Given the description of an element on the screen output the (x, y) to click on. 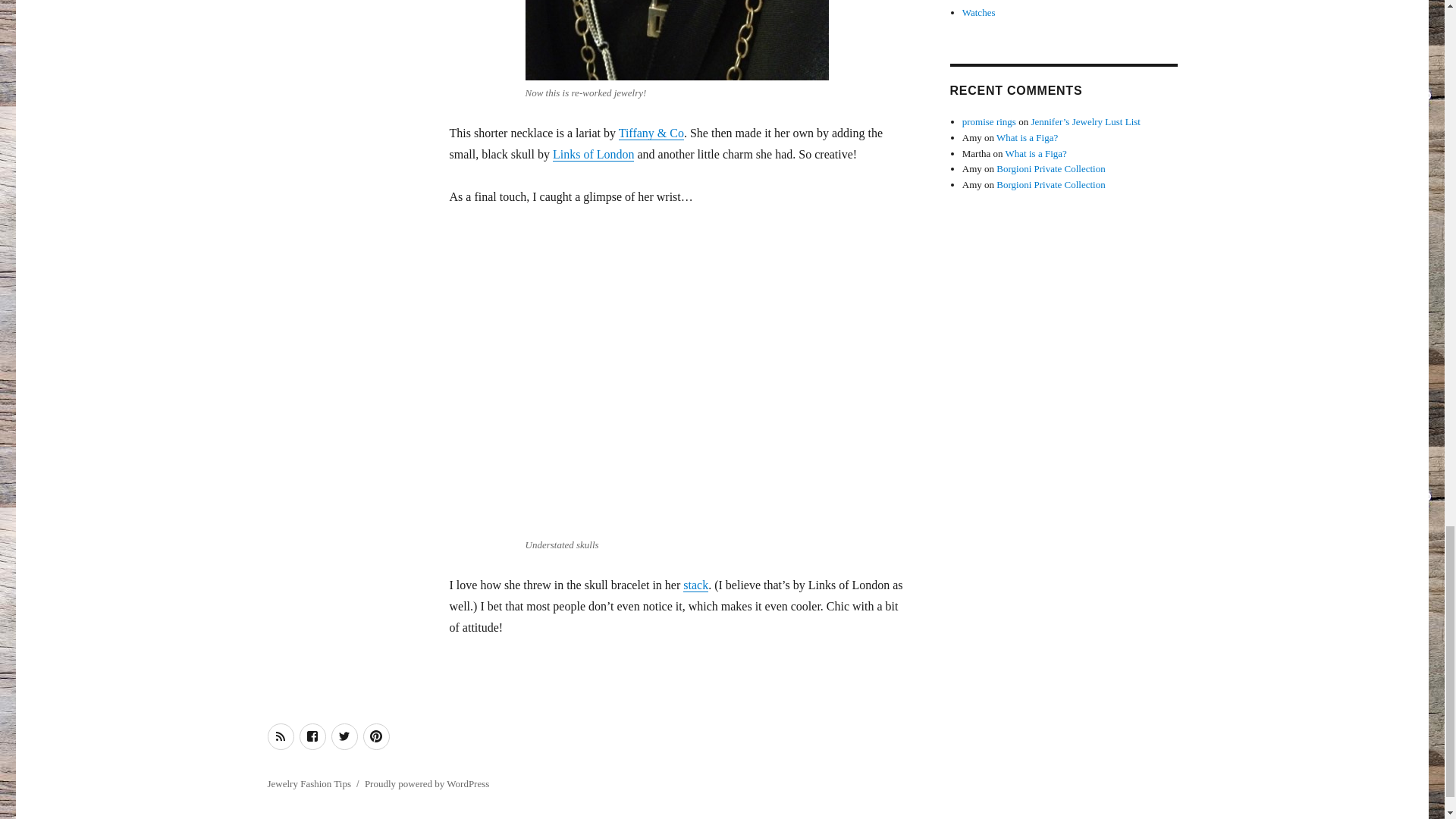
links of london (676, 40)
Links of London (593, 154)
stack (694, 584)
